Given the description of an element on the screen output the (x, y) to click on. 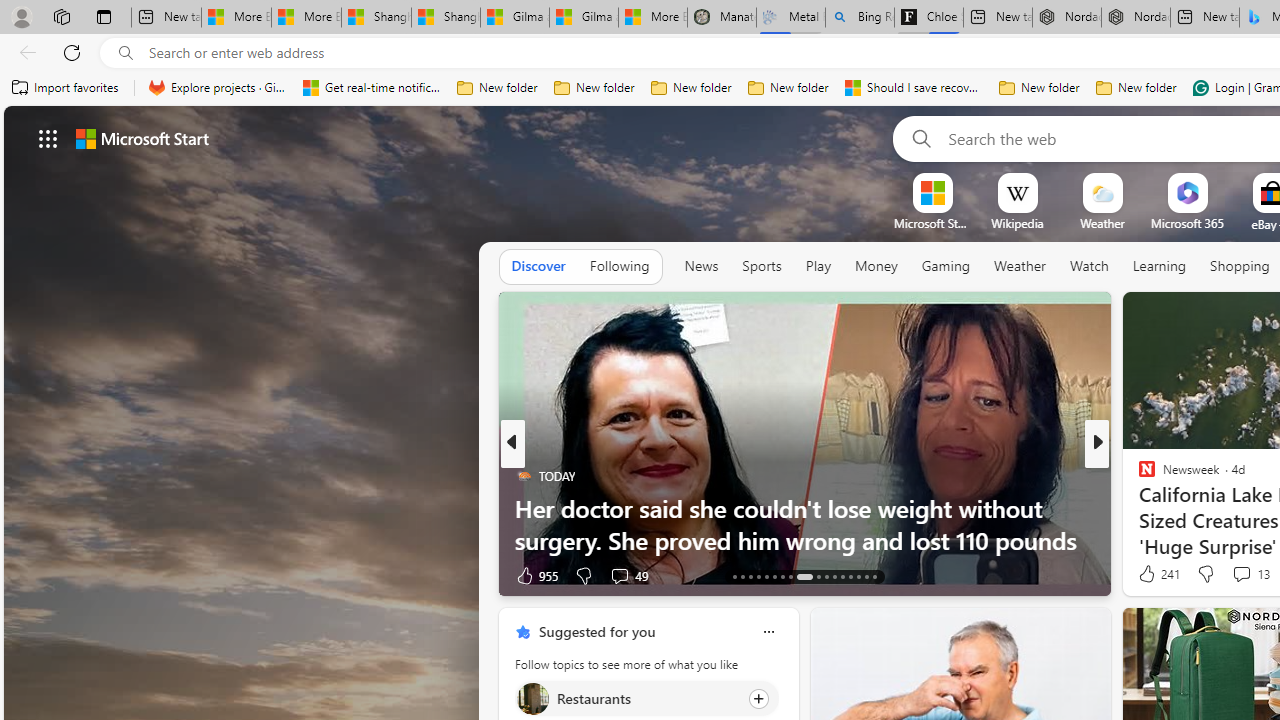
Craft Your Happy Place (1138, 507)
